Given the description of an element on the screen output the (x, y) to click on. 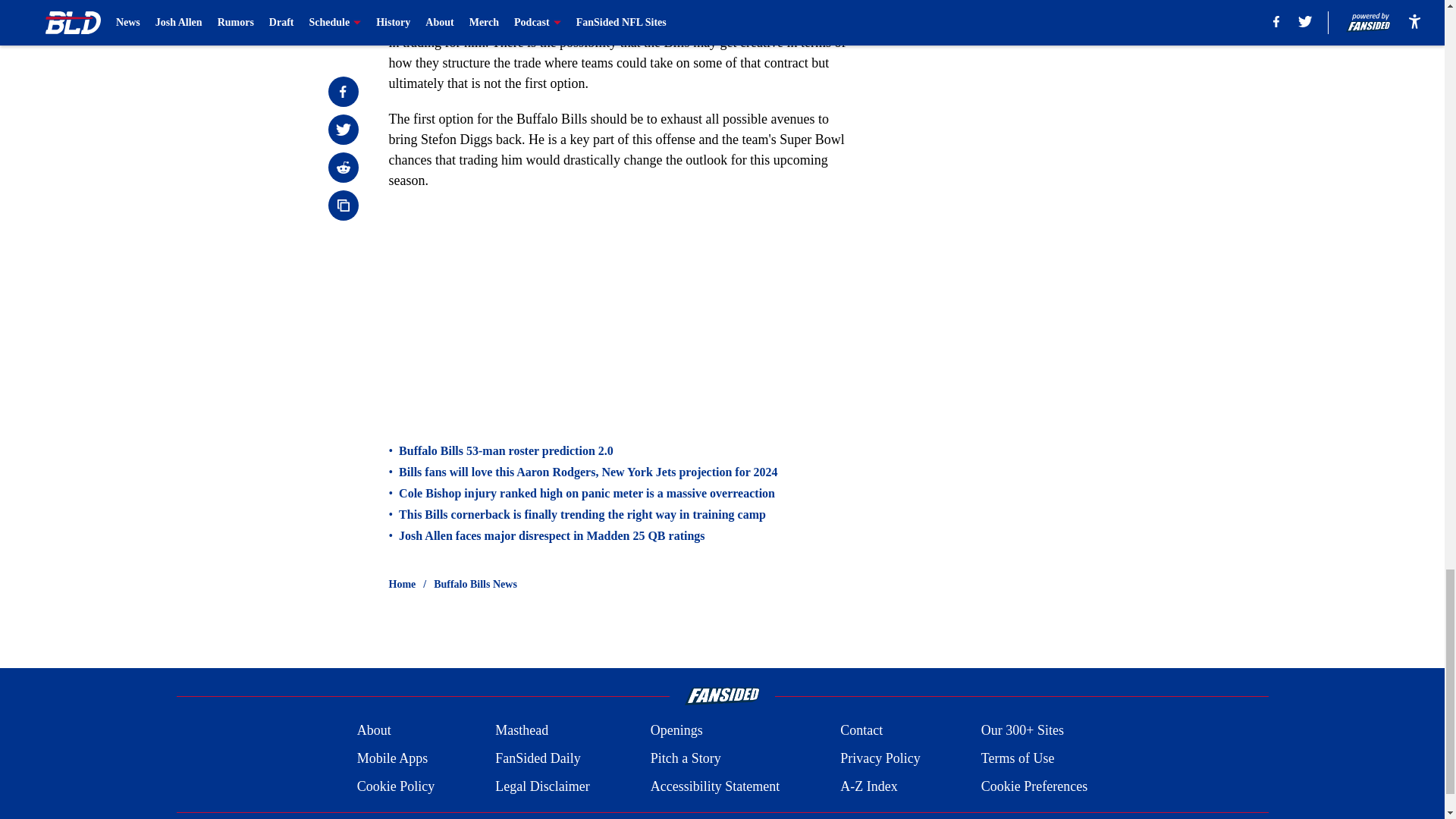
Buffalo Bills 53-man roster prediction 2.0 (505, 450)
Masthead (521, 730)
About (373, 730)
Buffalo Bills News (474, 584)
Contact (861, 730)
Home (401, 584)
Openings (676, 730)
Josh Allen faces major disrespect in Madden 25 QB ratings (551, 535)
